Given the description of an element on the screen output the (x, y) to click on. 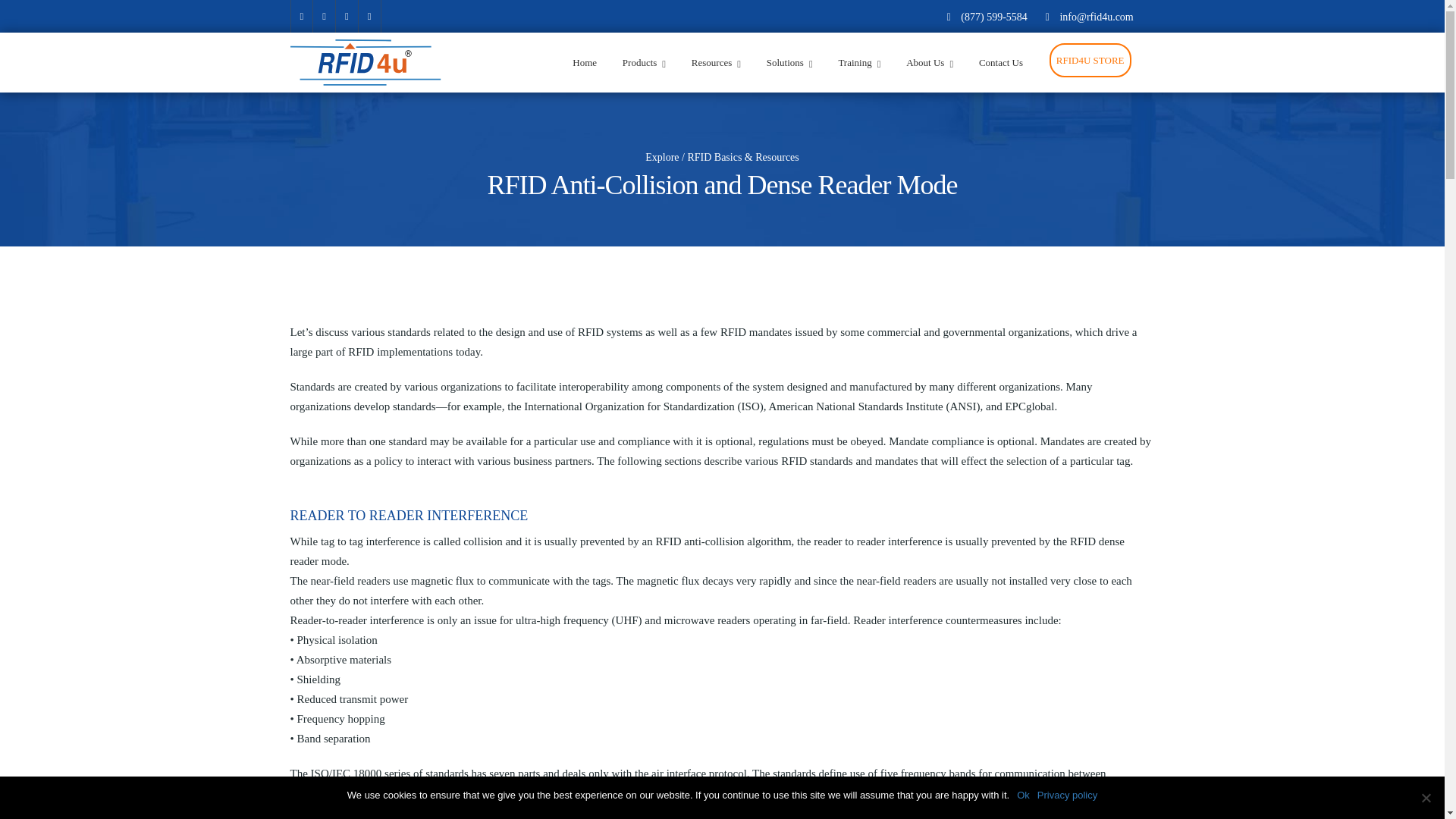
No (1425, 797)
facebook (301, 16)
Solutions (789, 62)
Products (644, 62)
twitter (323, 16)
Home (584, 62)
Resources (716, 62)
